Given the description of an element on the screen output the (x, y) to click on. 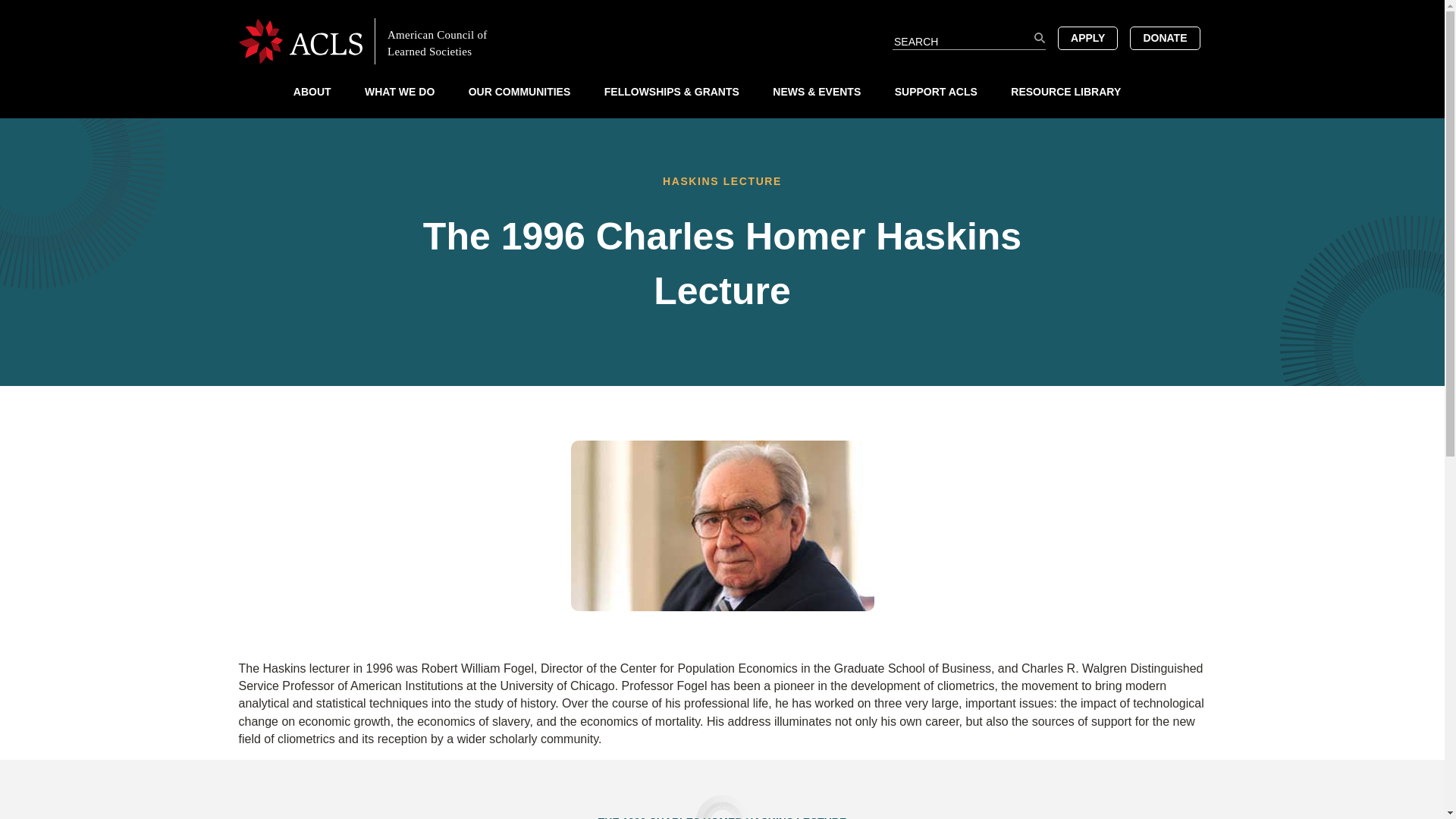
Home (374, 40)
DONATE (1164, 37)
APPLY (1088, 37)
SEARCH (1039, 38)
Skip to main content (721, 6)
